Given the description of an element on the screen output the (x, y) to click on. 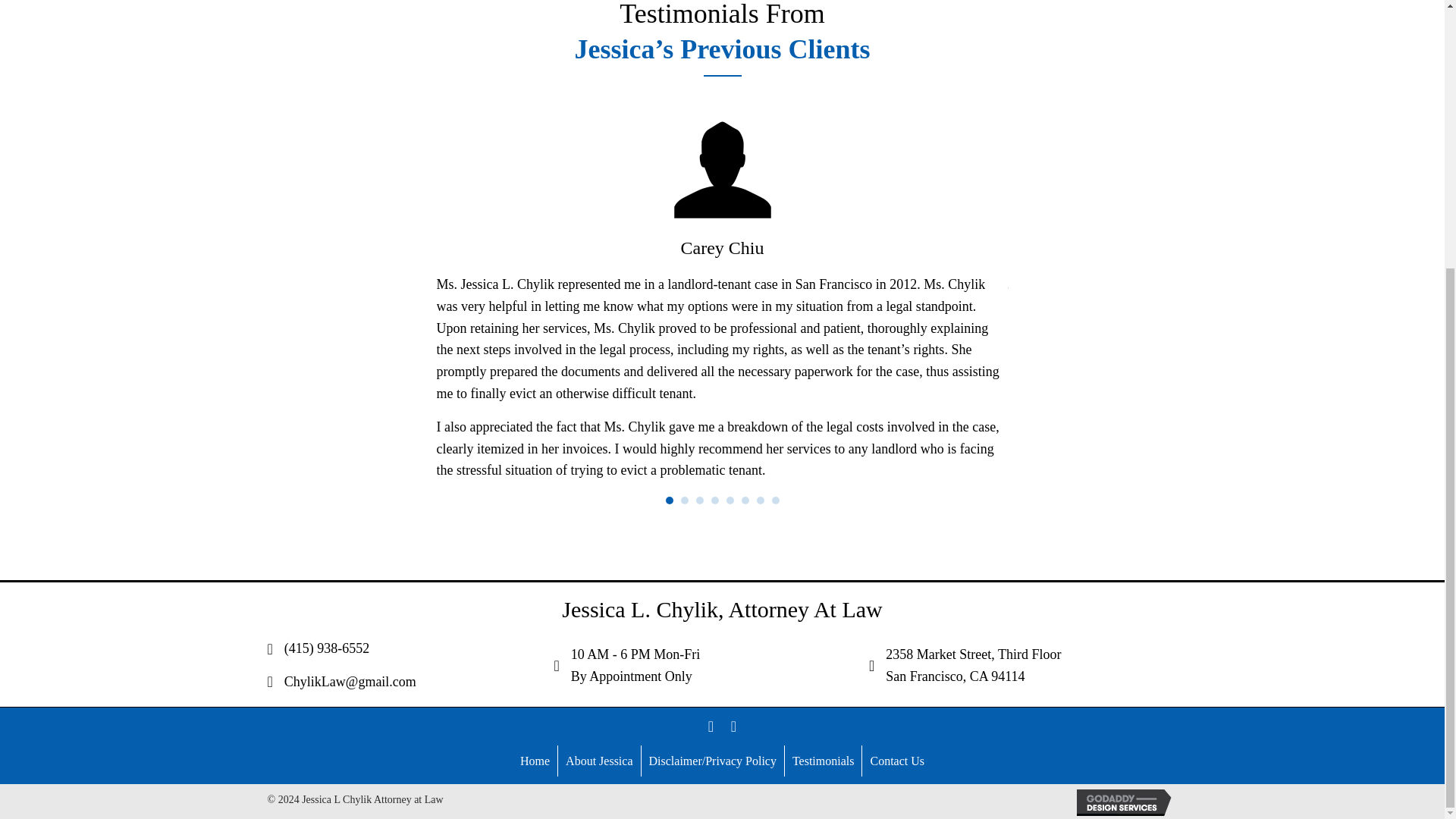
5 (729, 500)
Contact Us (896, 761)
2 (684, 500)
8 (774, 500)
About Jessica (598, 761)
Testimonials (822, 761)
7 (760, 500)
user-2-128 (721, 169)
Jessica L. Chylik, Attorney at Law (973, 665)
